Given the description of an element on the screen output the (x, y) to click on. 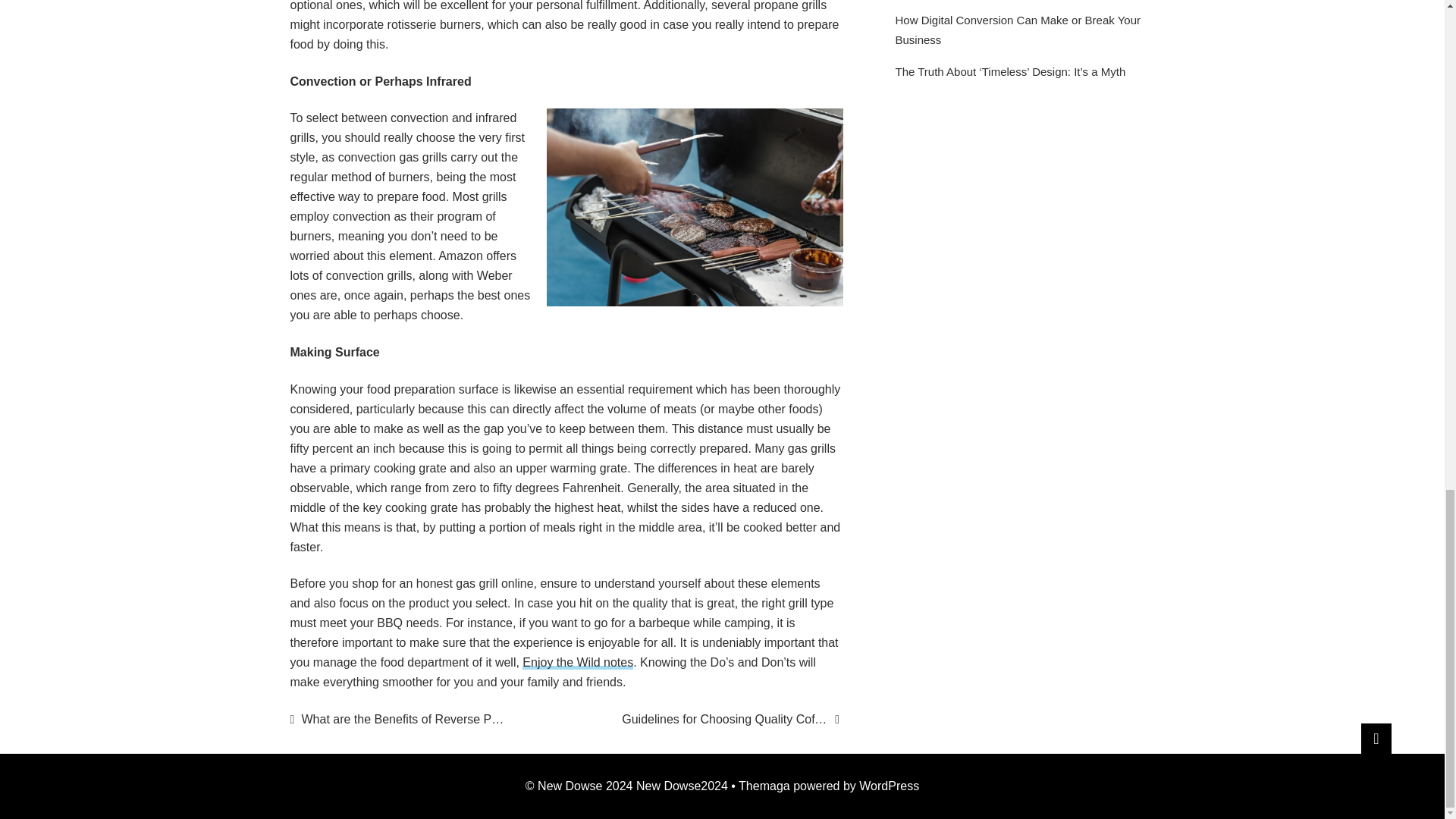
WordPress (888, 786)
Guidelines for Choosing Quality Coffee Beans (730, 720)
How Digital Conversion Can Make or Break Your Business (1017, 29)
What are the Benefits of Reverse Phone Lookup Services (397, 720)
Enjoy the Wild notes (577, 662)
Satmag - Wordpress Magazine Theme (764, 786)
Themaga (764, 786)
